Given the description of an element on the screen output the (x, y) to click on. 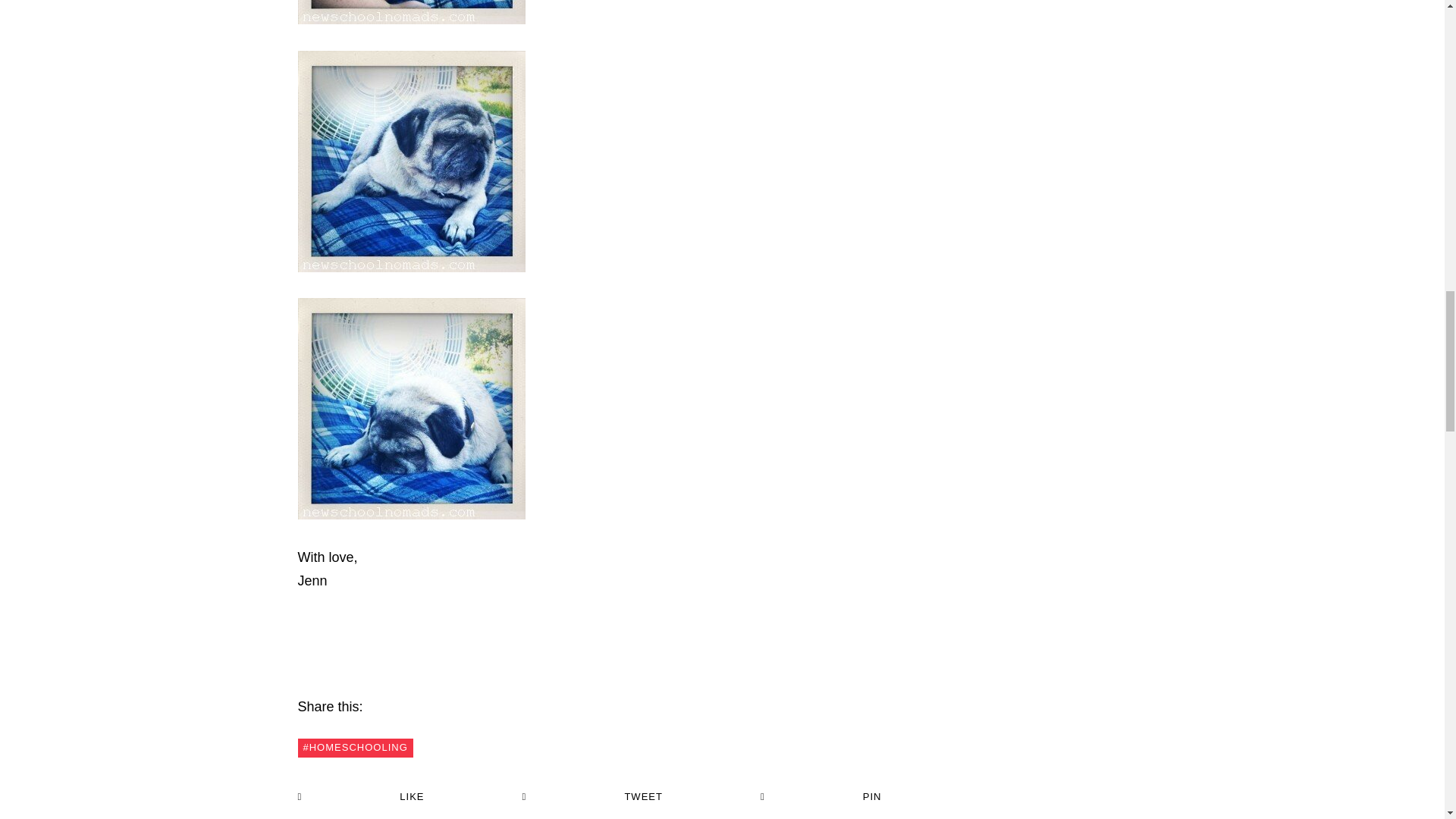
Pugs Backyard 4 (410, 408)
HOMESCHOOLING (354, 747)
Pugs Backyard 1 (410, 12)
Pugs Backyard 3 (410, 160)
